Given the description of an element on the screen output the (x, y) to click on. 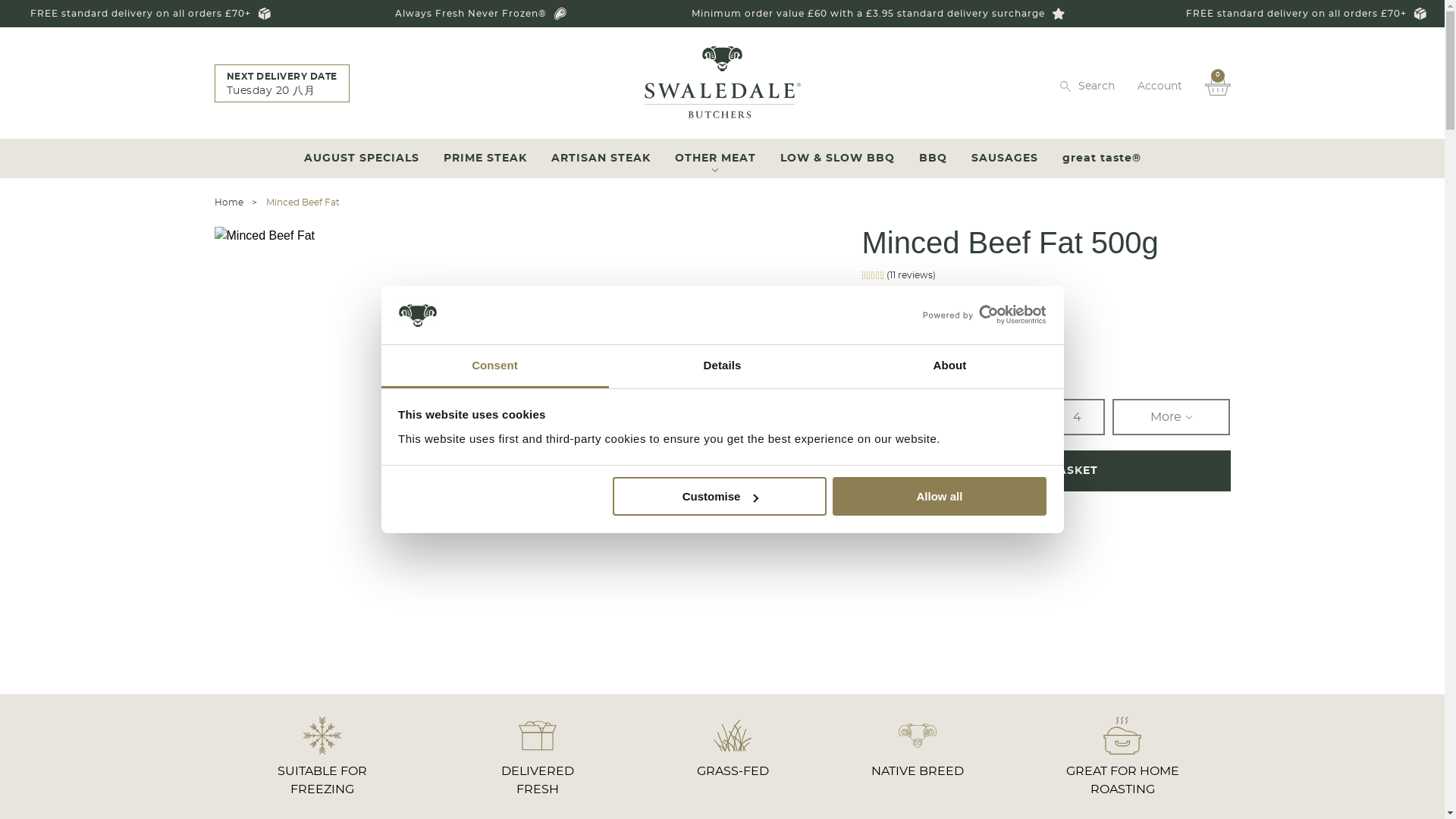
Details (721, 366)
Consent (494, 366)
About (948, 366)
